Given the description of an element on the screen output the (x, y) to click on. 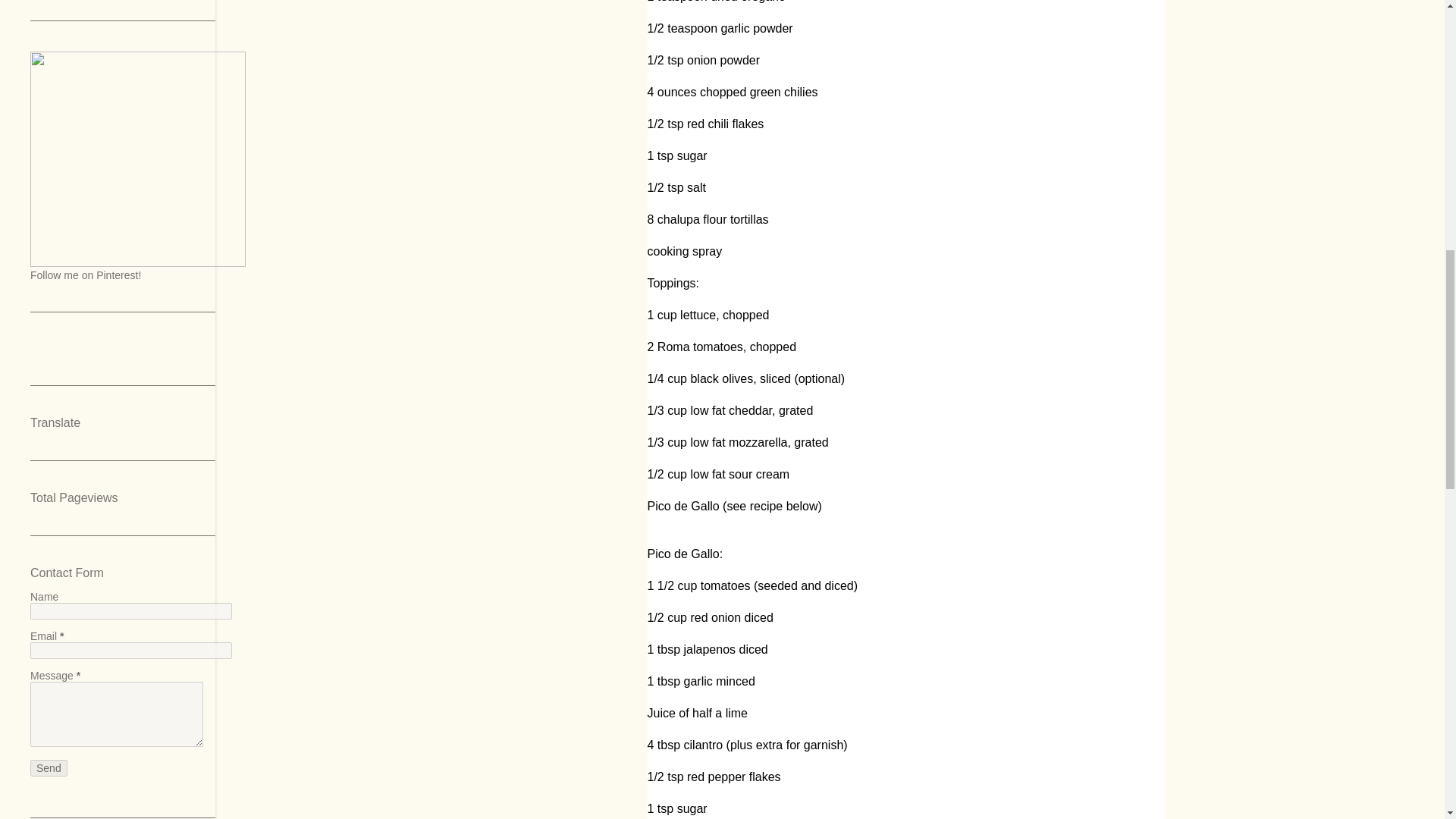
Send (48, 768)
